Given the description of an element on the screen output the (x, y) to click on. 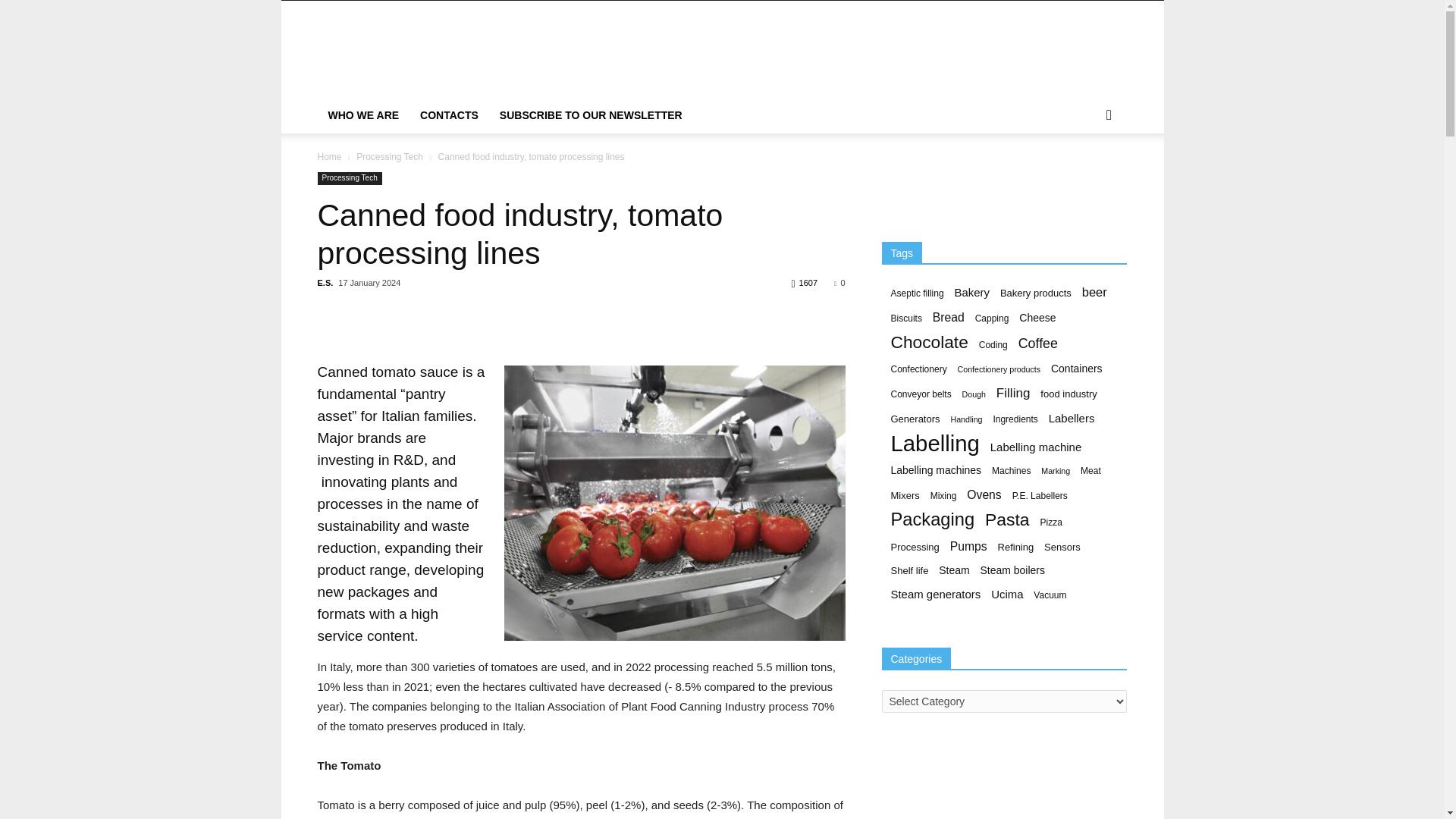
SUBSCRIBE TO OUR NEWSLETTER (591, 115)
E.S. (325, 282)
Search (1085, 175)
0 (839, 282)
Processing Tech (389, 156)
Posts by E.S. (325, 282)
Home (328, 156)
Processing Tech (349, 178)
WHO WE ARE (363, 115)
CONTACTS (449, 115)
